Given the description of an element on the screen output the (x, y) to click on. 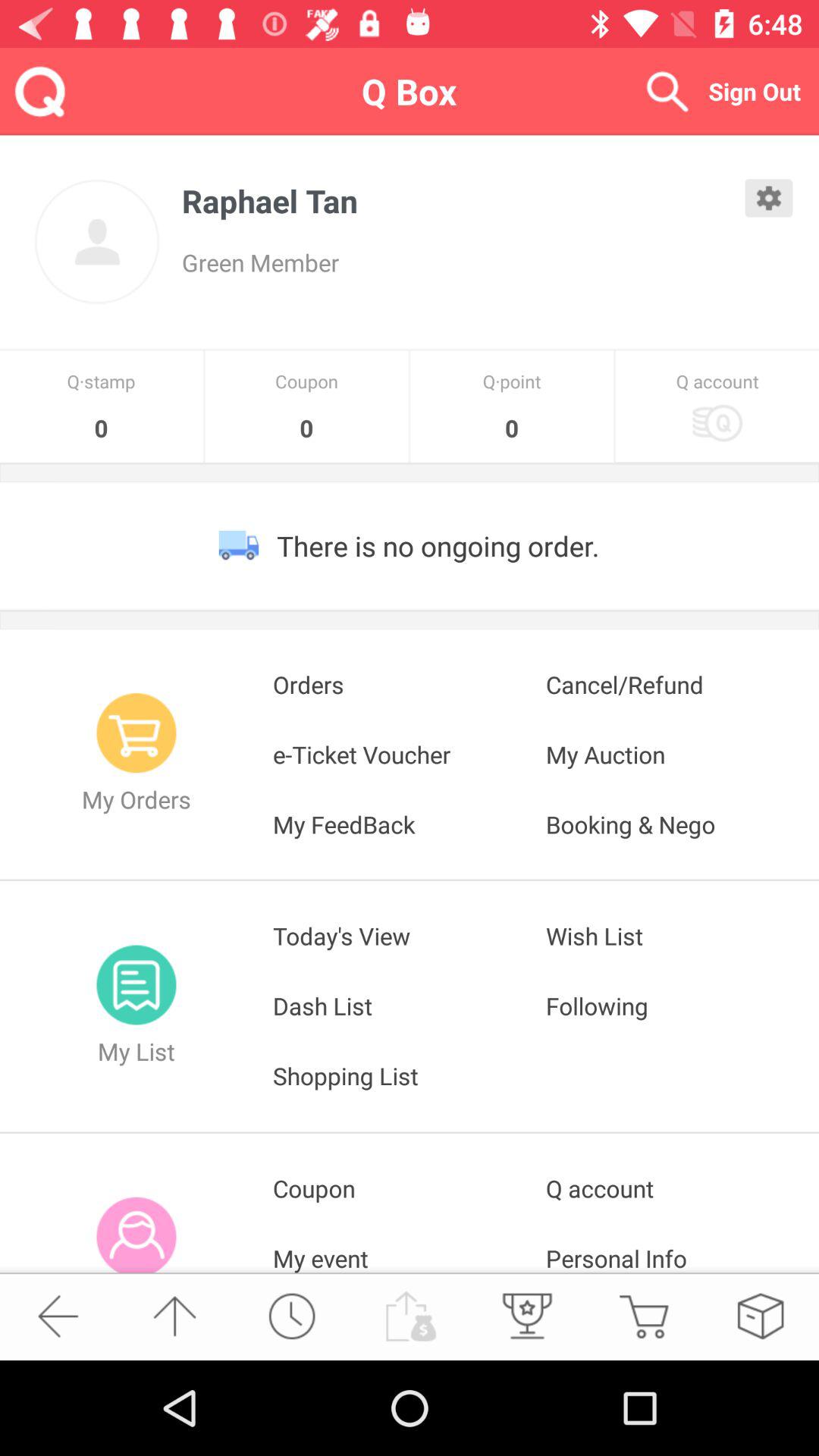
open settings (768, 198)
